Given the description of an element on the screen output the (x, y) to click on. 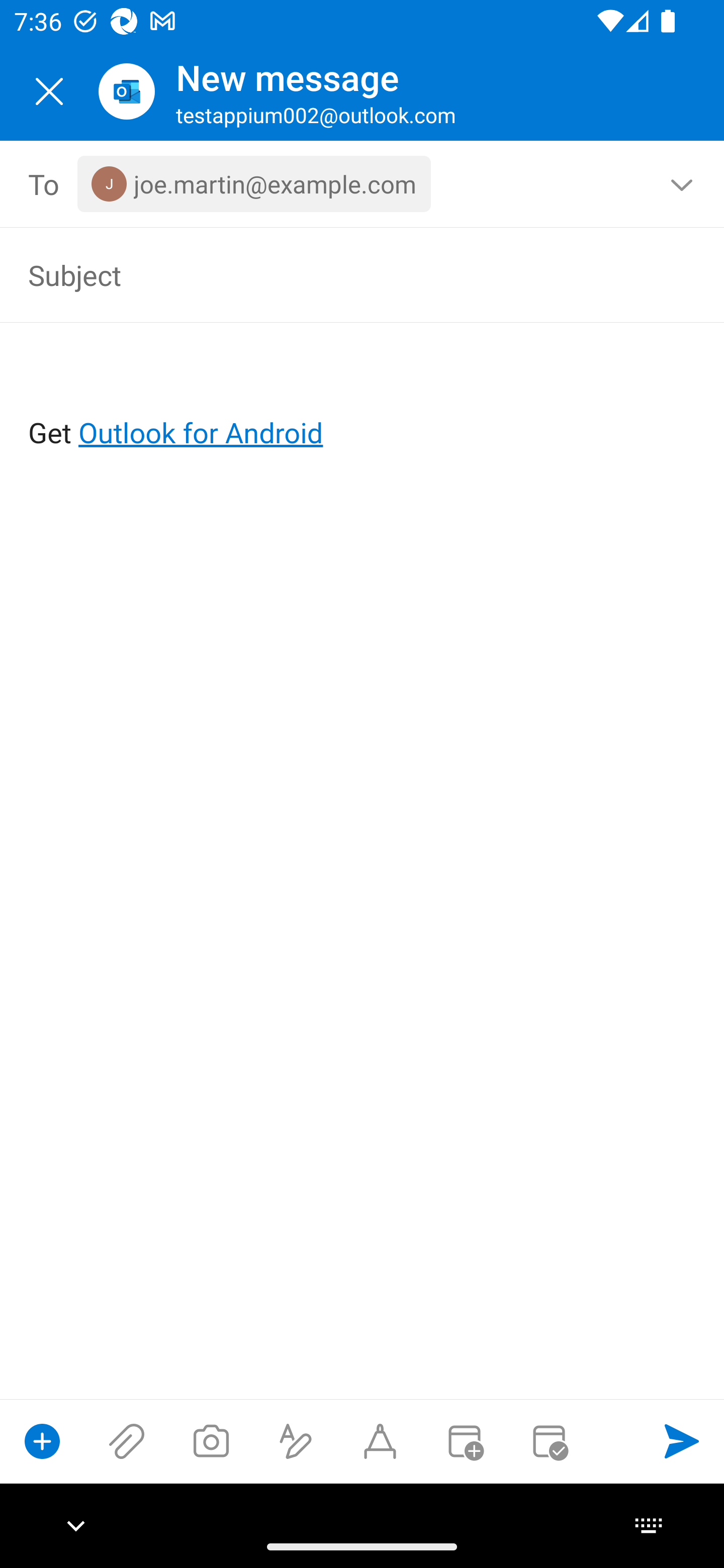
Close (49, 91)
To, 1 recipient <joe.martin@example.com> (362, 184)
Subject (333, 274)


Get Outlook for Android (363, 400)
Show compose options (42, 1440)
Attach files (126, 1440)
Take a photo (210, 1440)
Show formatting options (295, 1440)
Start Ink compose (380, 1440)
Convert to event (464, 1440)
Send availability (548, 1440)
Send (681, 1440)
